Given the description of an element on the screen output the (x, y) to click on. 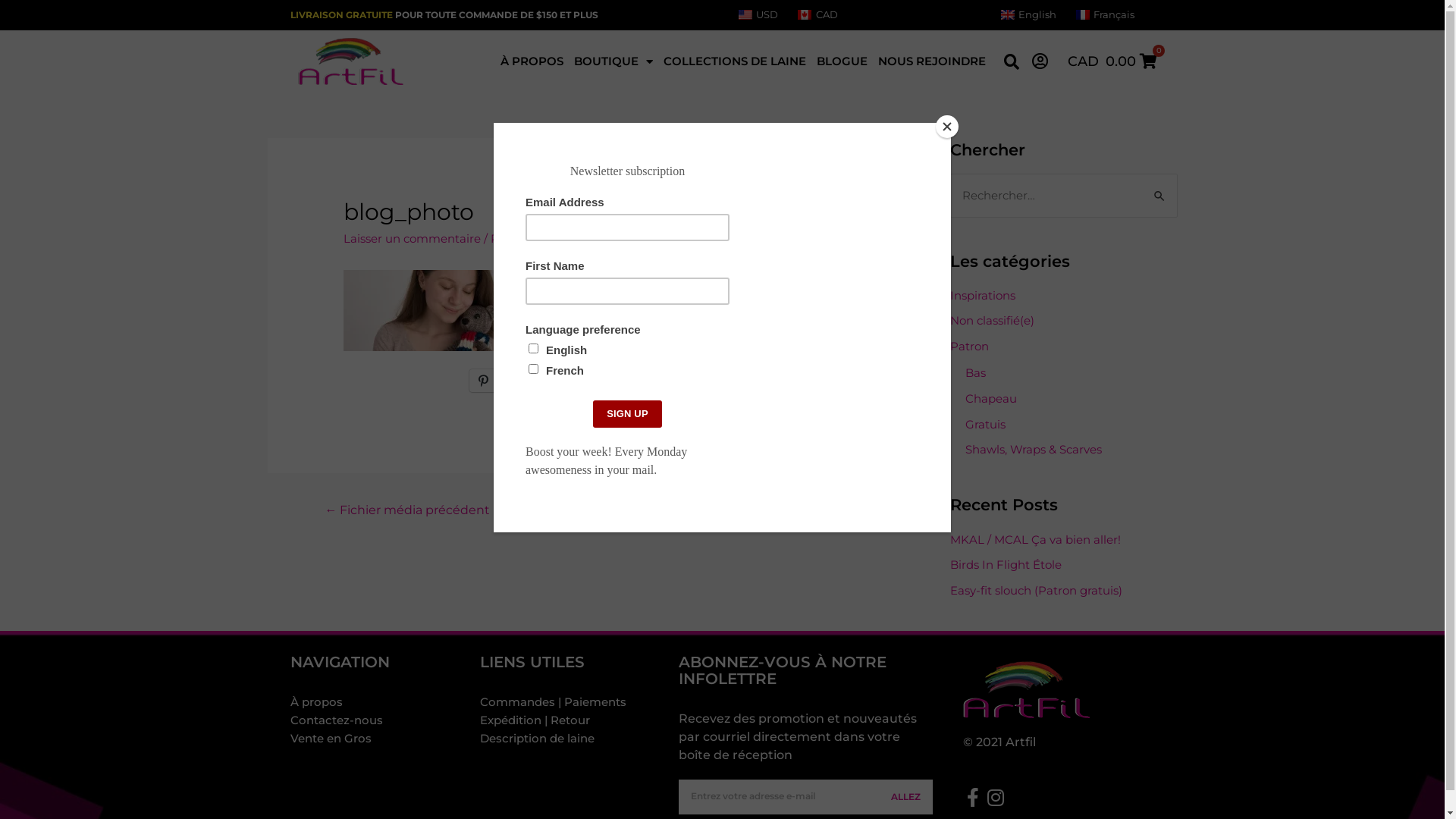
E-mail Element type: text (577, 380)
Patron Element type: text (968, 345)
mar_nadia@yahoo.ca Element type: text (576, 238)
BOUTIQUE Element type: text (613, 61)
ALLEZ Element type: text (906, 796)
Easy-fit slouch (Patron gratuis) Element type: text (1035, 590)
Laisser un commentaire Element type: text (411, 238)
CAD 0.00
0 Element type: text (1112, 61)
Contactez-nous Element type: text (376, 720)
COLLECTIONS DE LAINE Element type: text (734, 61)
Gratuis Element type: text (984, 424)
NOUS REJOINDRE Element type: text (931, 61)
Instagram Element type: text (994, 796)
Chapeau Element type: text (990, 398)
Pinterest Element type: text (504, 380)
Commandes | Paiements Element type: text (571, 702)
BLOGUE Element type: text (841, 61)
Inspirations Element type: text (981, 295)
USD Element type: text (758, 15)
English Element type: text (1028, 15)
Rechercher Element type: text (1160, 187)
Bas Element type: text (974, 372)
Vente en Gros Element type: text (376, 738)
CAD Element type: text (817, 15)
Description de laine Element type: text (571, 738)
Facebook Element type: text (652, 380)
Shawls, Wraps & Scarves Element type: text (1032, 449)
Facebook-f Element type: text (972, 796)
